Given the description of an element on the screen output the (x, y) to click on. 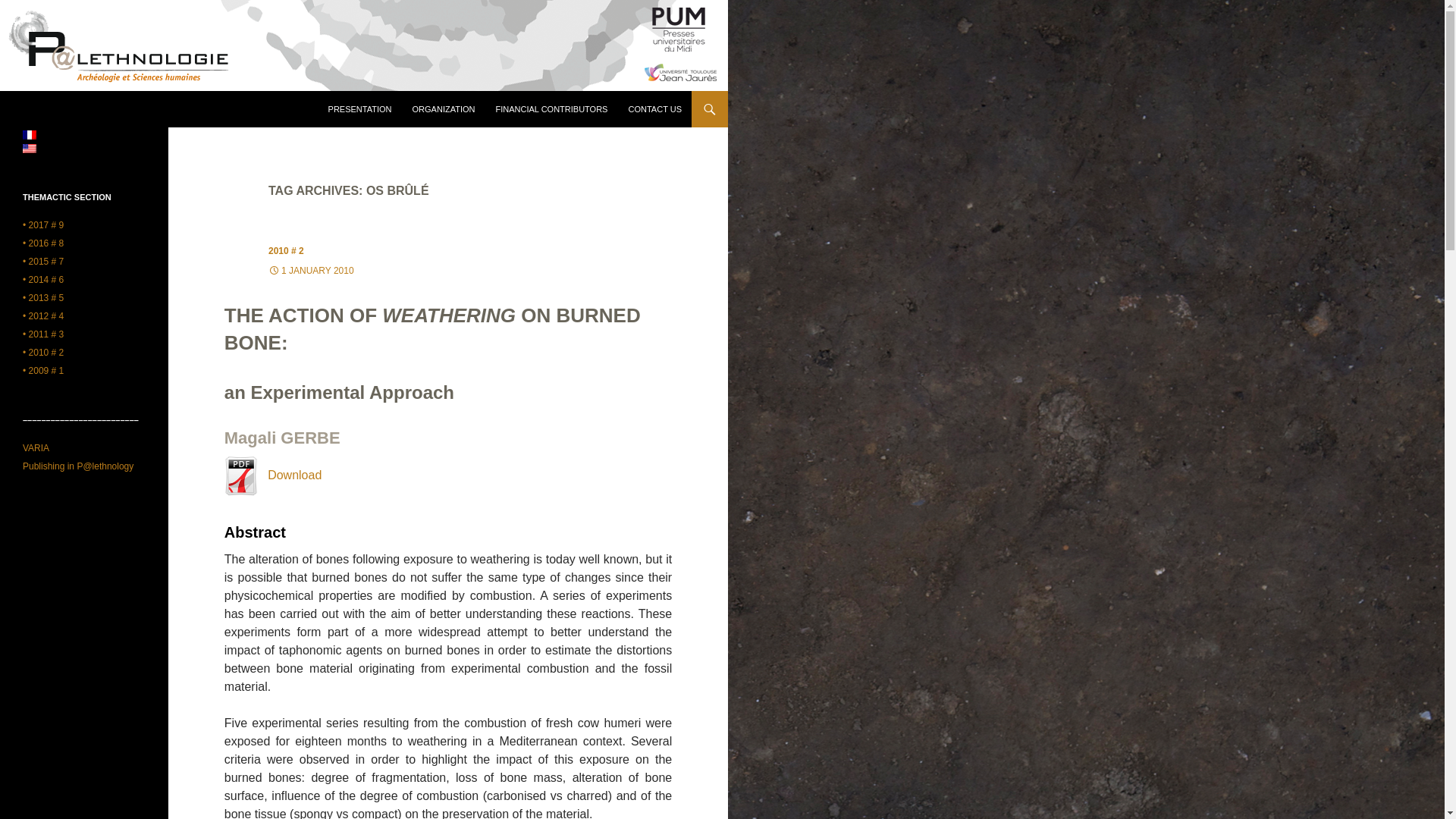
CONTACT US (654, 108)
   Download (272, 474)
PRESENTATION (359, 108)
1 JANUARY 2010 (310, 270)
ORGANIZATION (443, 108)
FINANCIAL CONTRIBUTORS (551, 108)
PALETHNOLOGIE (81, 108)
